Given the description of an element on the screen output the (x, y) to click on. 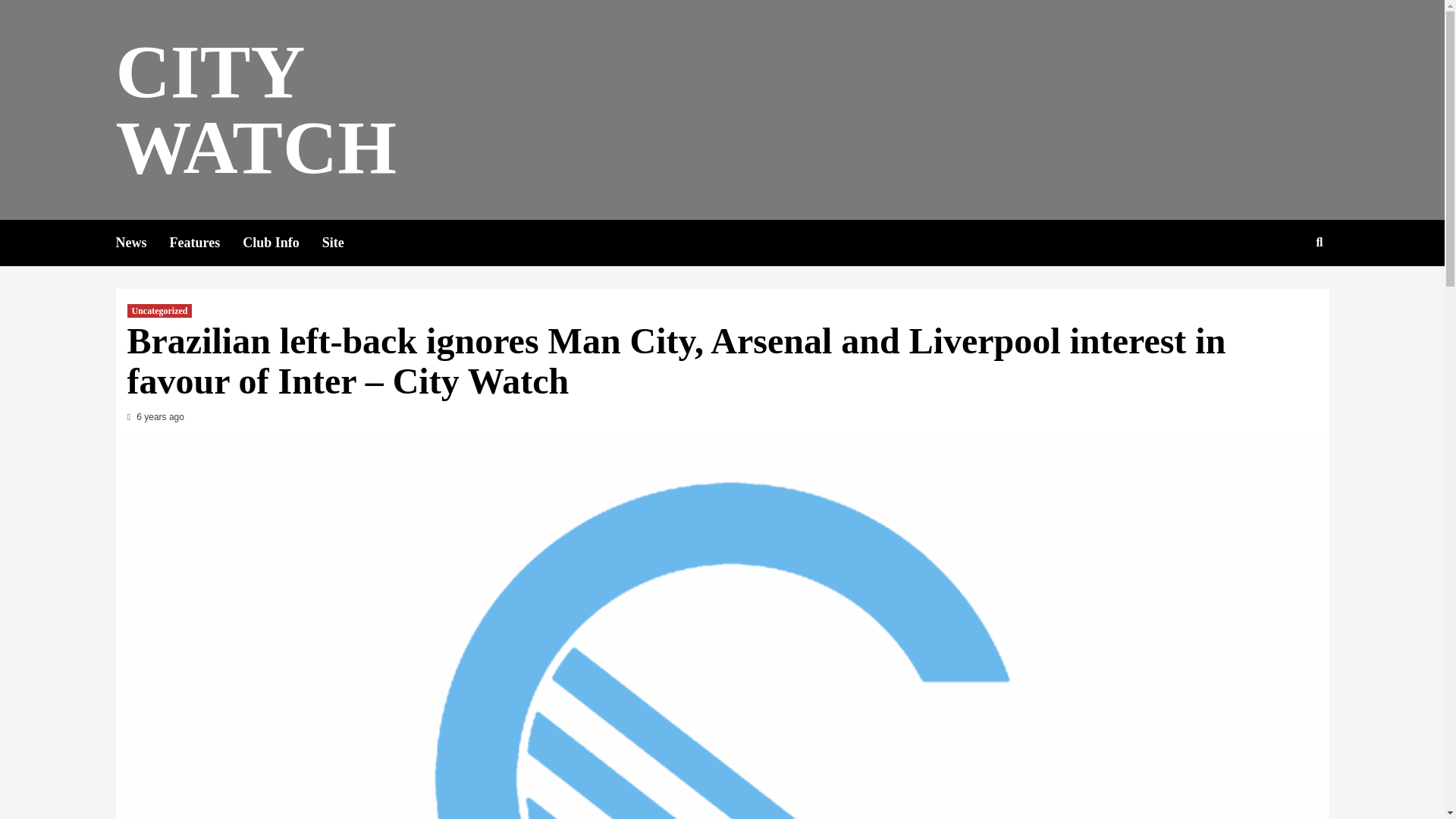
Uncategorized (160, 310)
Site (343, 243)
News (141, 243)
Search (1283, 291)
Features (206, 243)
CITY WATCH (255, 109)
6 years ago (160, 416)
Club Info (282, 243)
